Given the description of an element on the screen output the (x, y) to click on. 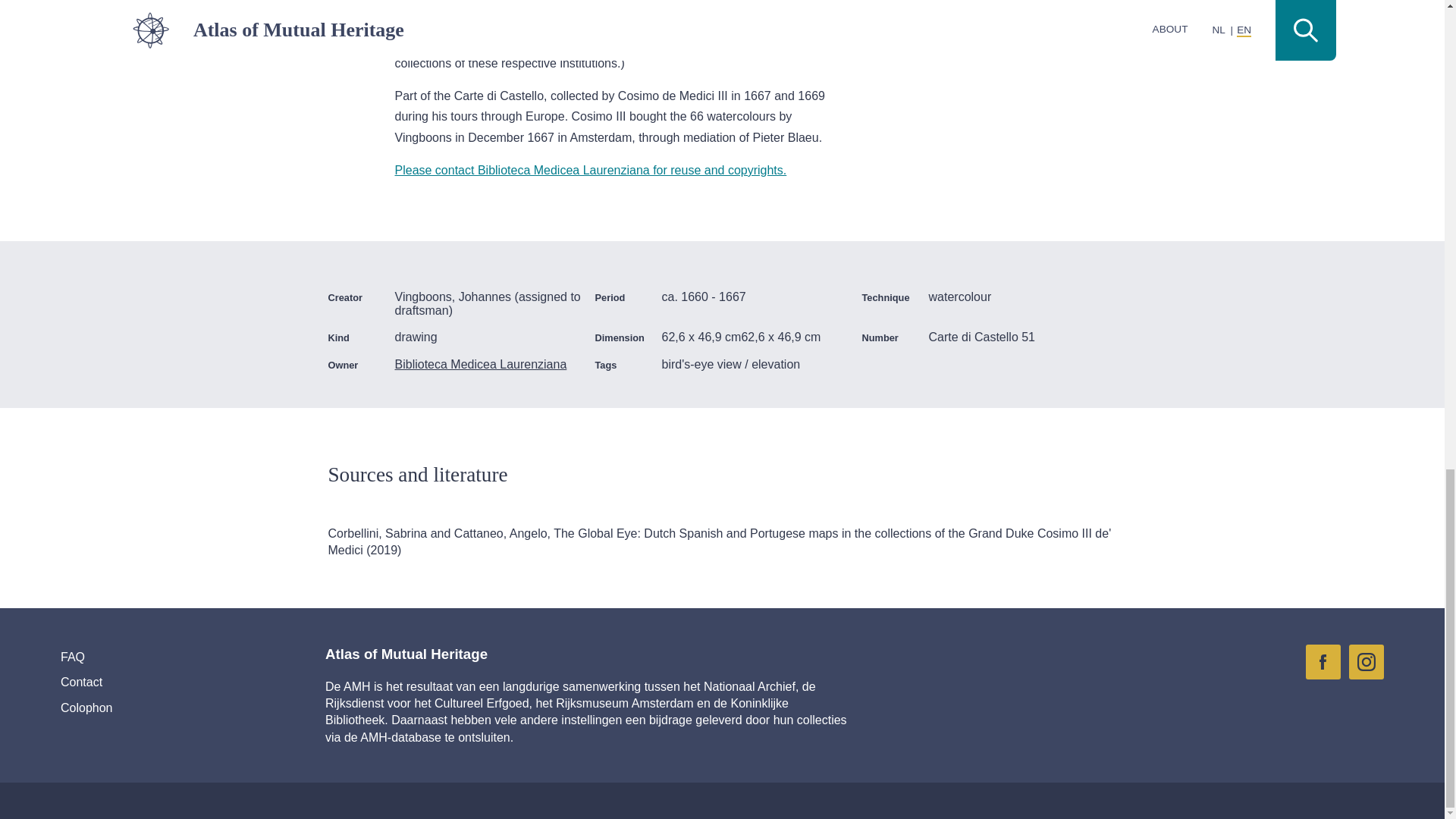
1DCCBCE1-524A-48CB-831E-C31DDC7F78AF (1323, 661)
Contact (160, 682)
Colophon (160, 708)
7F10DEB0-DE4F-4124-ABEF-075F9CBF84BD (1366, 701)
Biblioteca Medicea Laurenziana (488, 364)
FAQ (160, 657)
7F10DEB0-DE4F-4124-ABEF-075F9CBF84BD (1366, 661)
1DCCBCE1-524A-48CB-831E-C31DDC7F78AF (1323, 701)
